Given the description of an element on the screen output the (x, y) to click on. 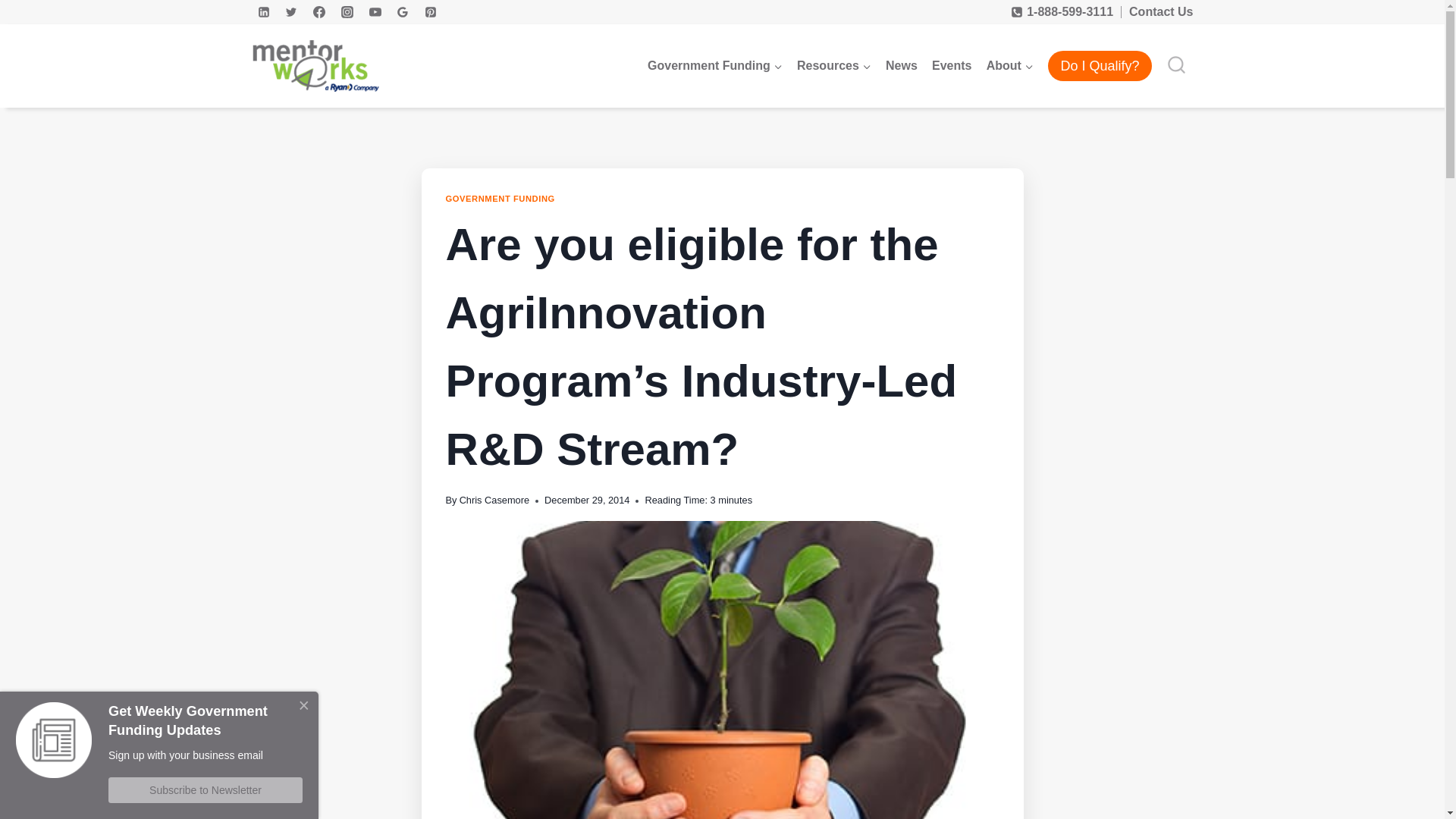
Government Funding (714, 66)
About (1009, 66)
1-888-599-3111 (1061, 12)
Events (951, 66)
Do I Qualify? (1099, 65)
News (900, 66)
Contact Us (1160, 11)
Resources (833, 66)
